Given the description of an element on the screen output the (x, y) to click on. 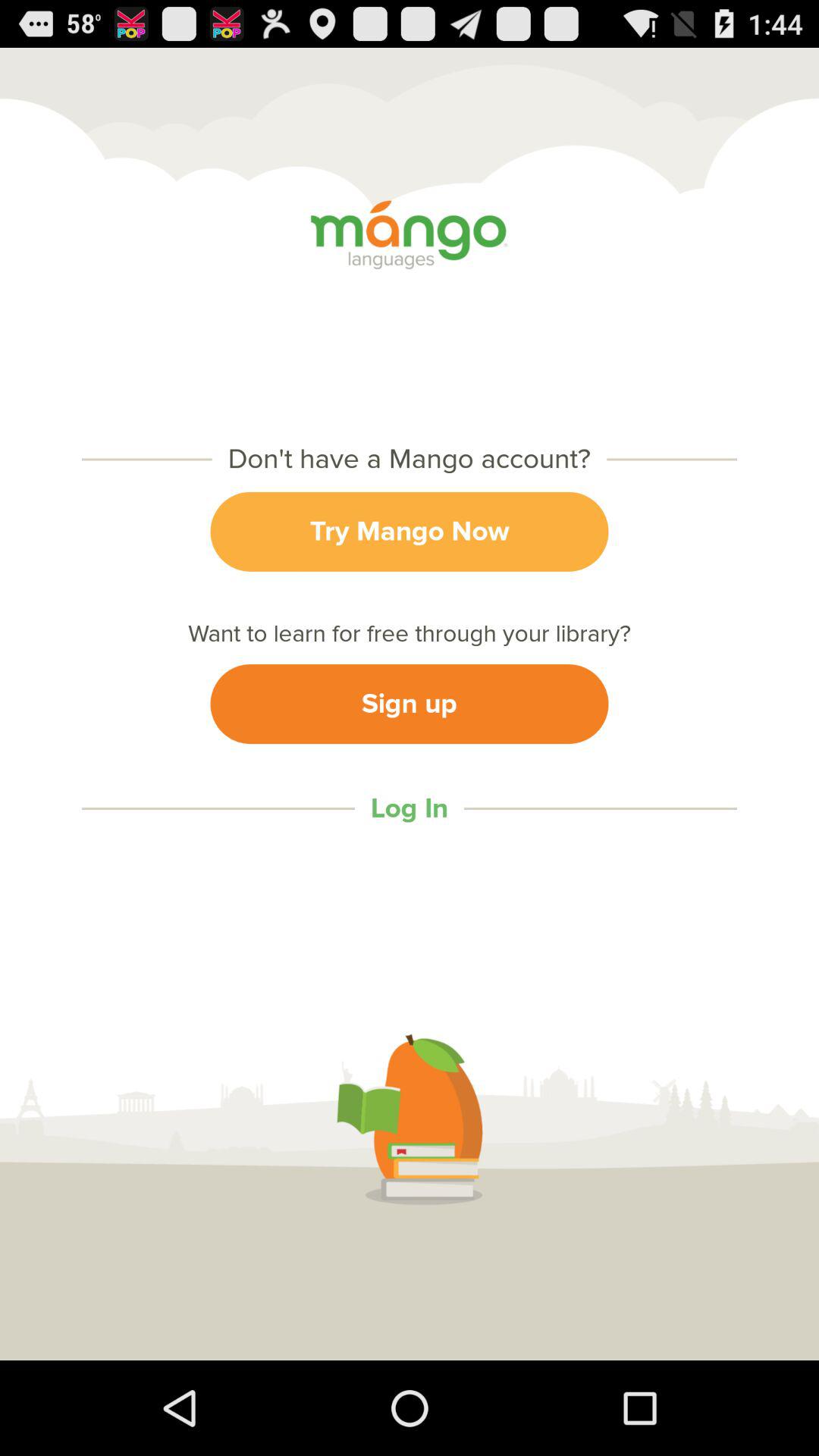
turn on icon above the log in item (409, 703)
